Given the description of an element on the screen output the (x, y) to click on. 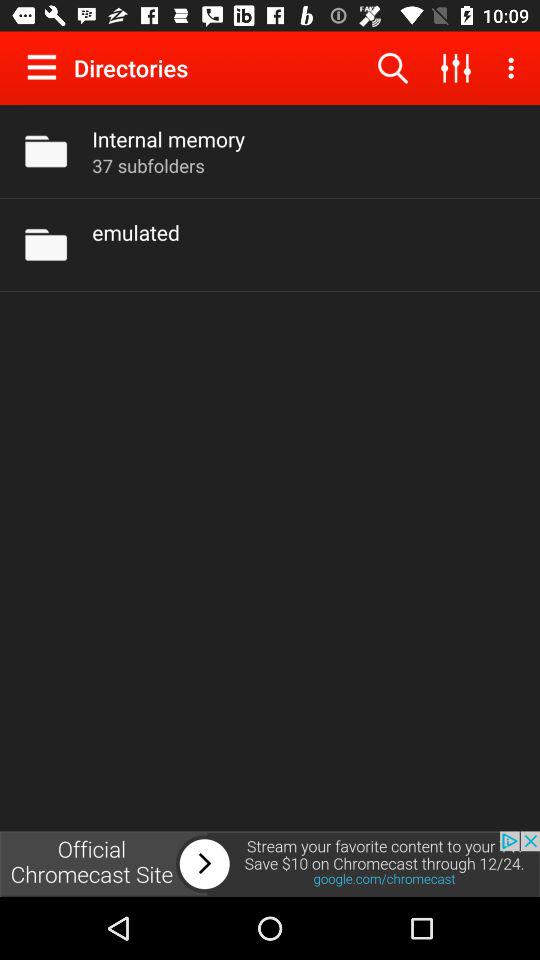
show menu (46, 67)
